Given the description of an element on the screen output the (x, y) to click on. 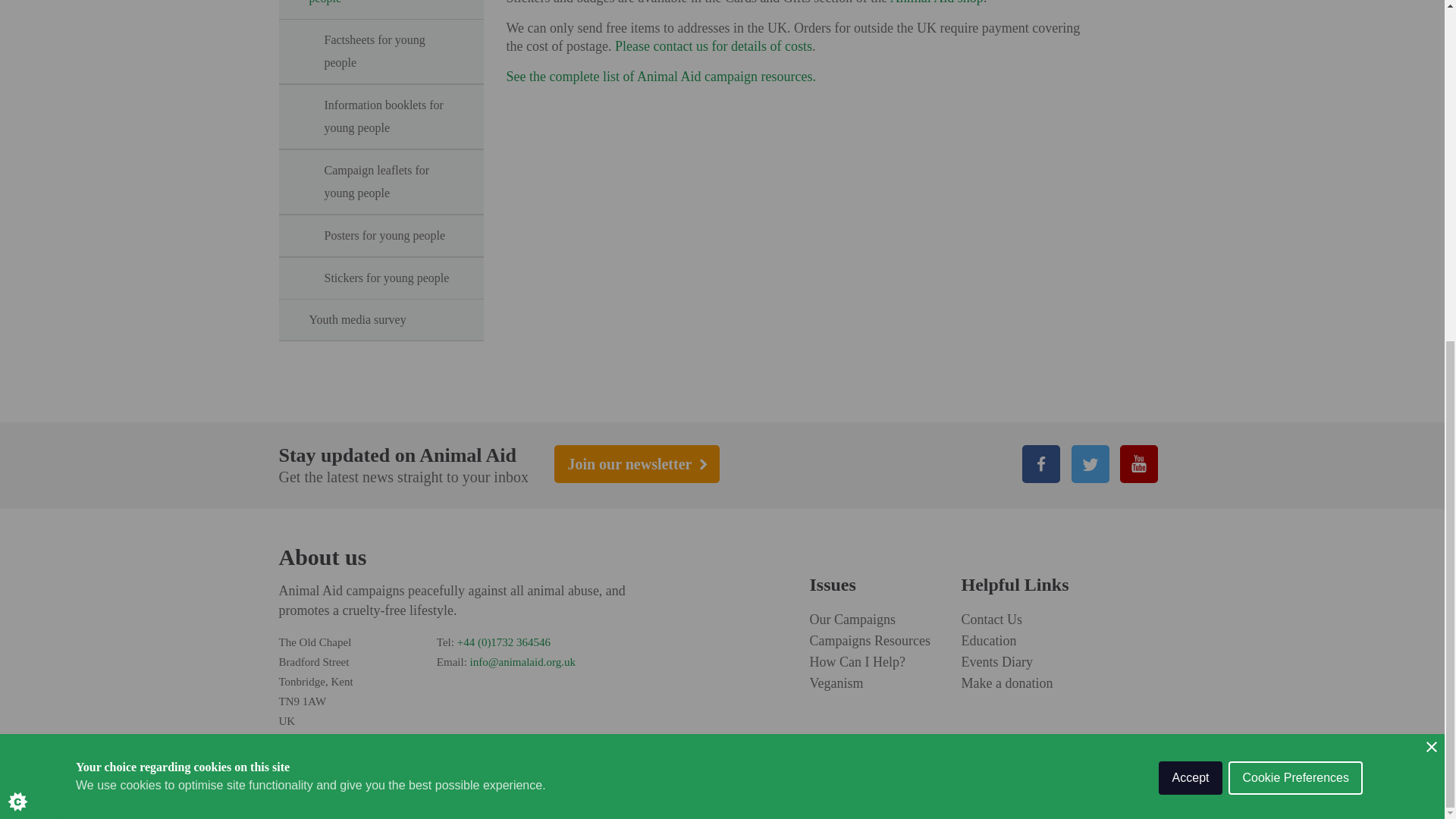
Cookie Preferences (1295, 228)
Join our newsletter (636, 464)
Accept (1190, 256)
